Given the description of an element on the screen output the (x, y) to click on. 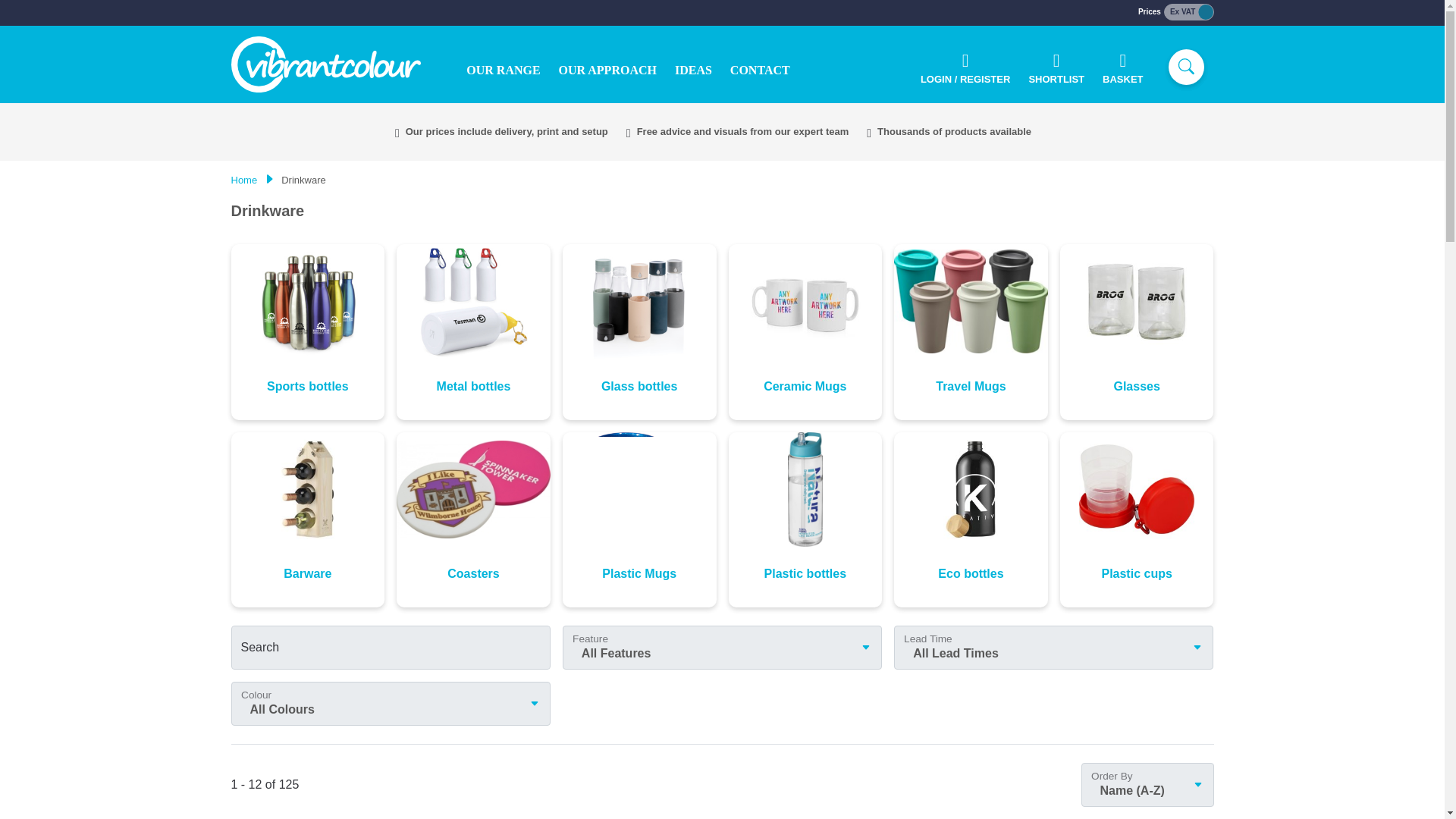
OUR RANGE (502, 70)
